Given the description of an element on the screen output the (x, y) to click on. 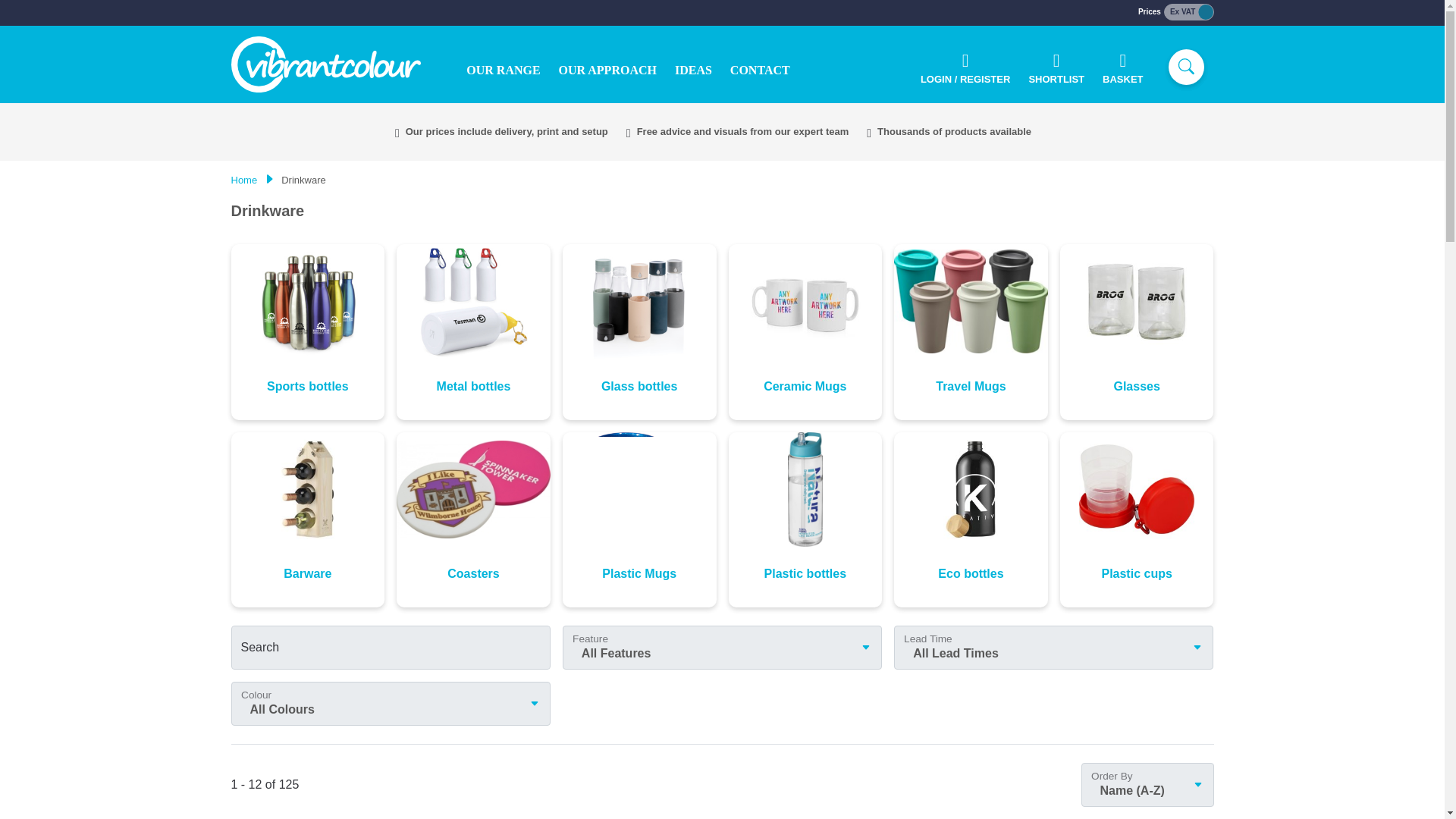
OUR RANGE (502, 70)
